Given the description of an element on the screen output the (x, y) to click on. 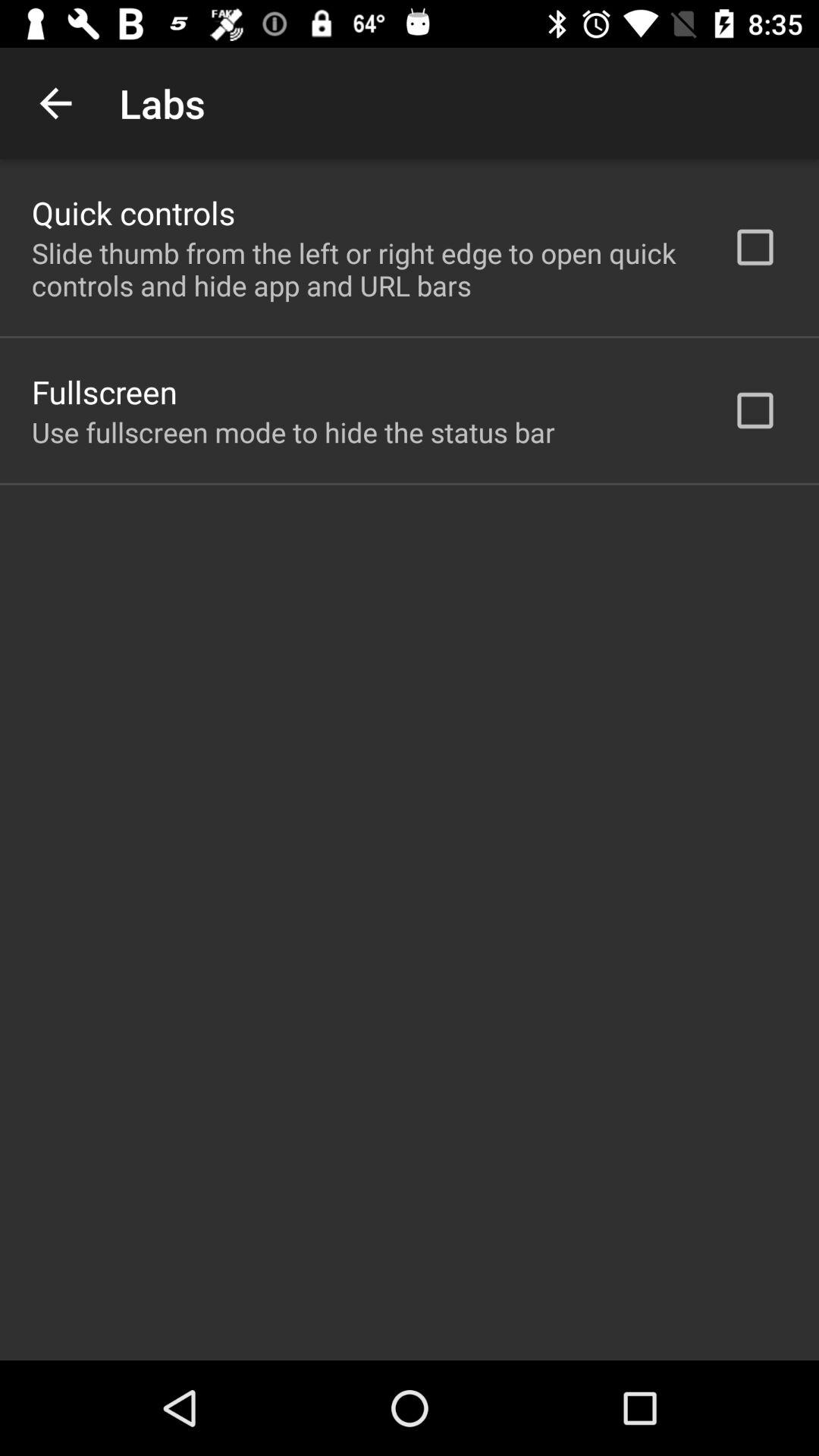
flip to slide thumb from app (361, 269)
